Given the description of an element on the screen output the (x, y) to click on. 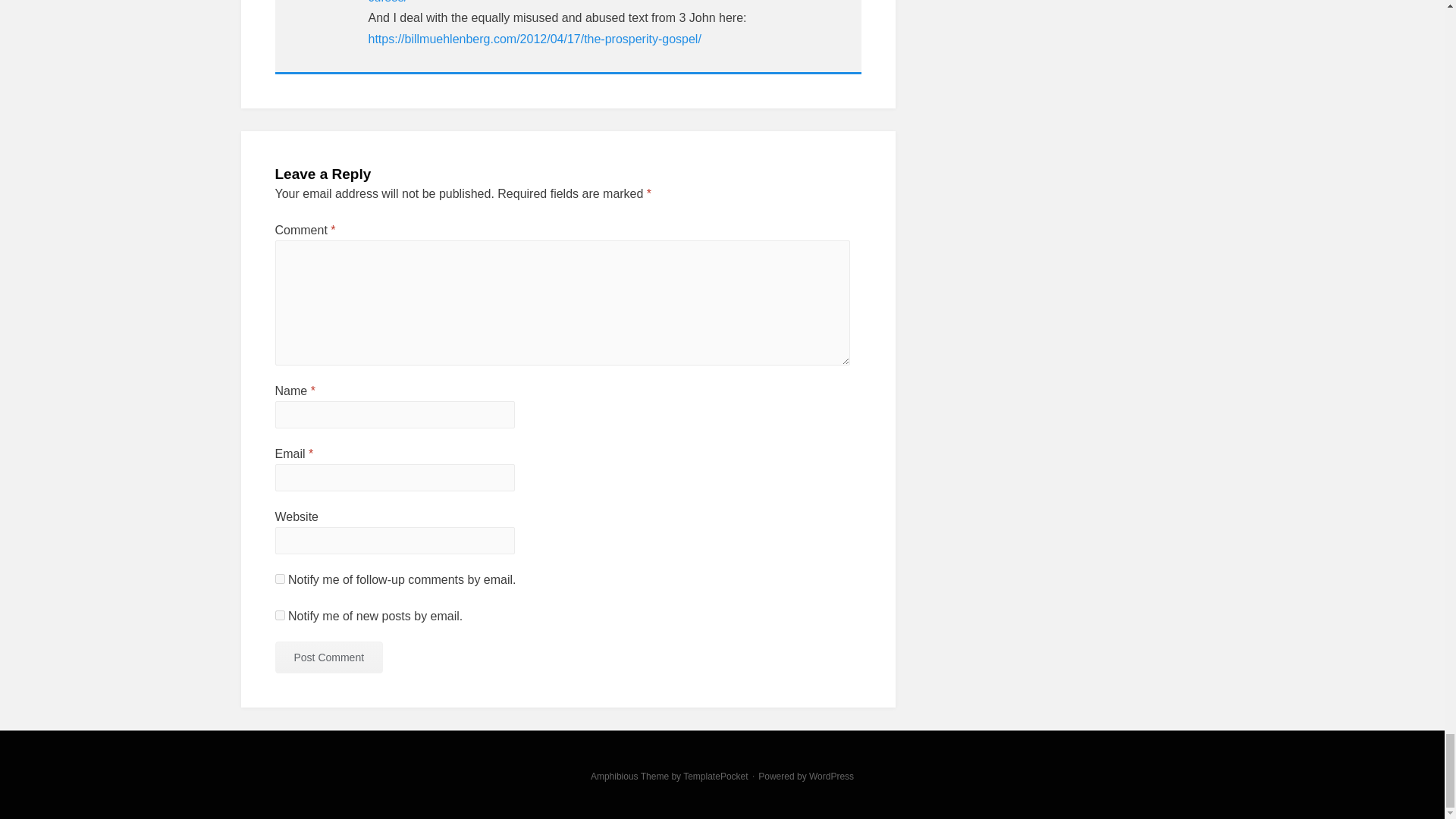
subscribe (279, 614)
Post Comment (328, 657)
subscribe (279, 578)
